Given the description of an element on the screen output the (x, y) to click on. 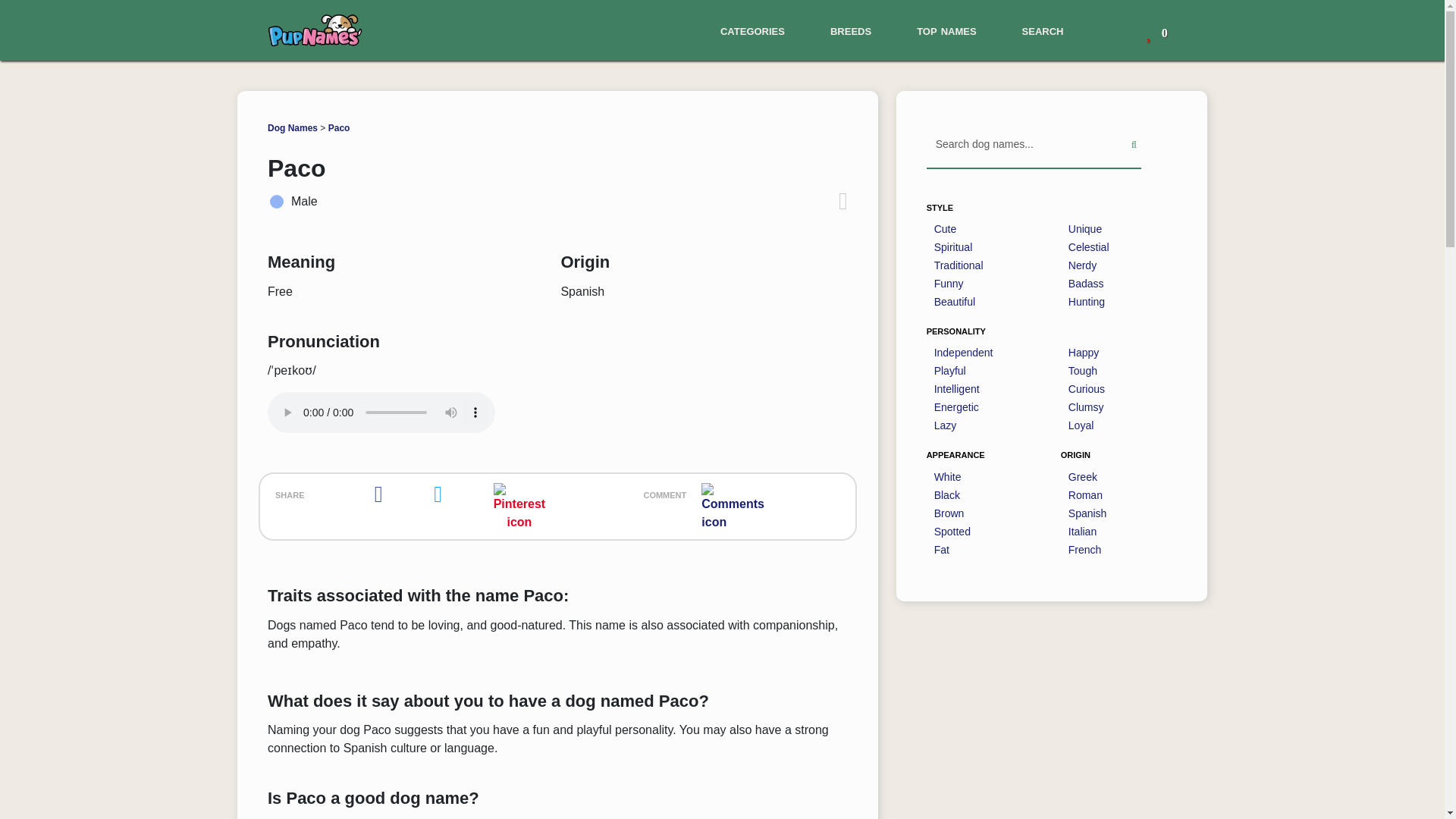
Celestial (1088, 246)
Paco (339, 127)
Spiritual (953, 246)
Badass (1085, 283)
Cute (945, 228)
Nerdy (1082, 264)
Unique (1085, 228)
Dog Names (292, 127)
Beautiful (954, 301)
Hunting (1086, 301)
